Given the description of an element on the screen output the (x, y) to click on. 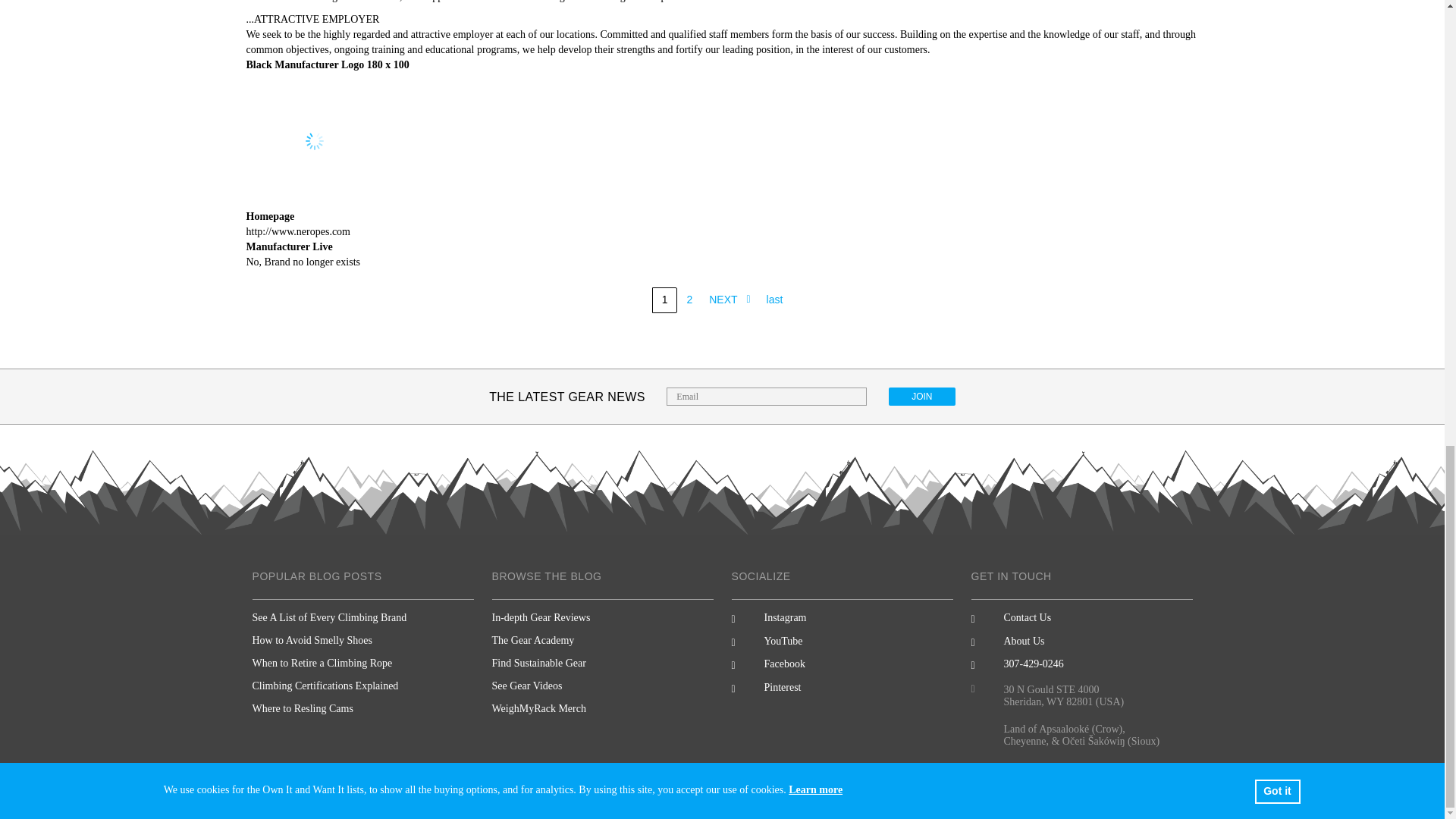
JOIN (921, 396)
